Given the description of an element on the screen output the (x, y) to click on. 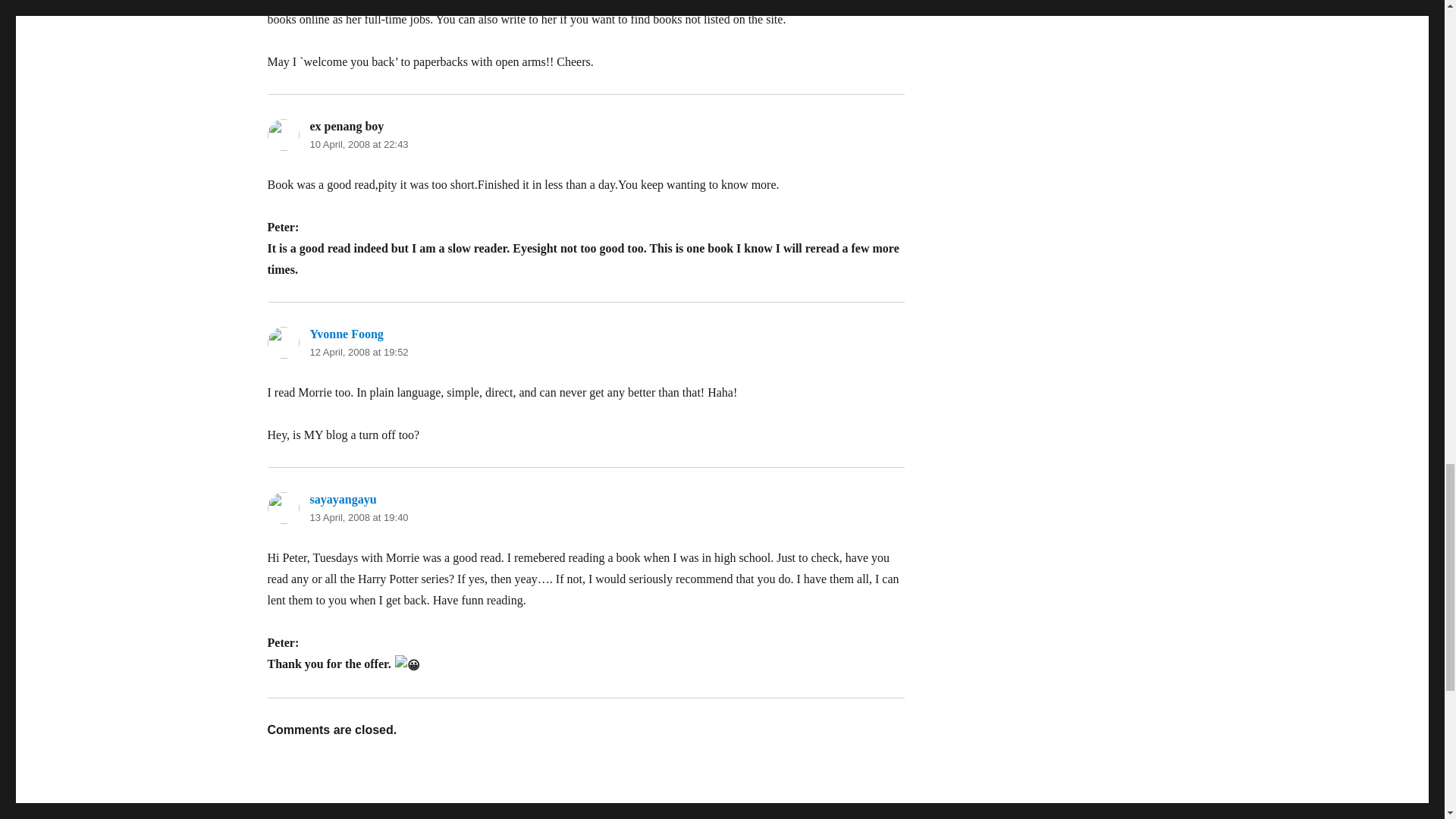
12 April, 2008 at 19:52 (357, 351)
13 April, 2008 at 19:40 (357, 517)
10 April, 2008 at 22:43 (357, 143)
sayayangayu (341, 499)
Yvonne Foong (345, 333)
